Given the description of an element on the screen output the (x, y) to click on. 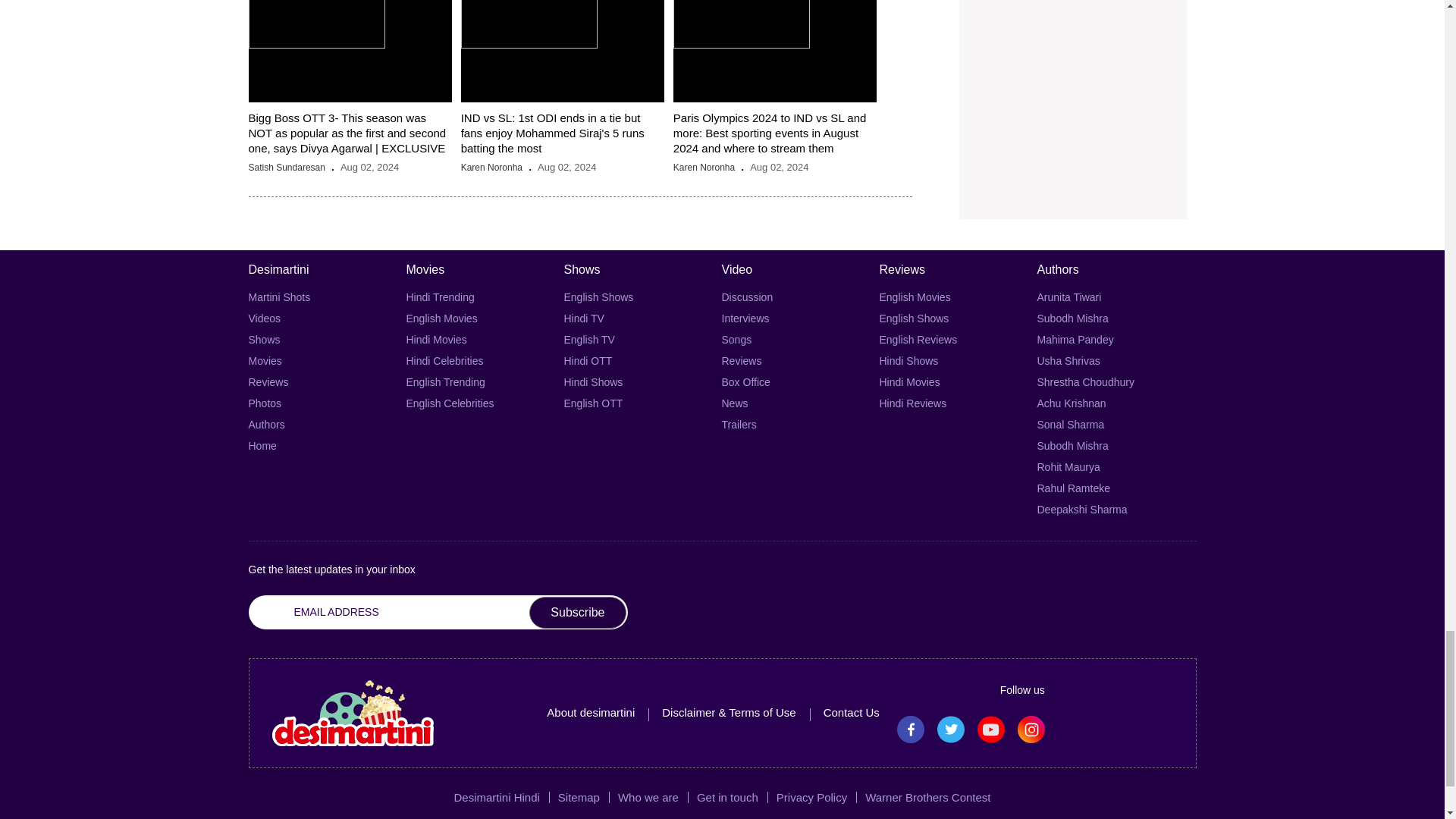
Desi martini (351, 713)
